Given the description of an element on the screen output the (x, y) to click on. 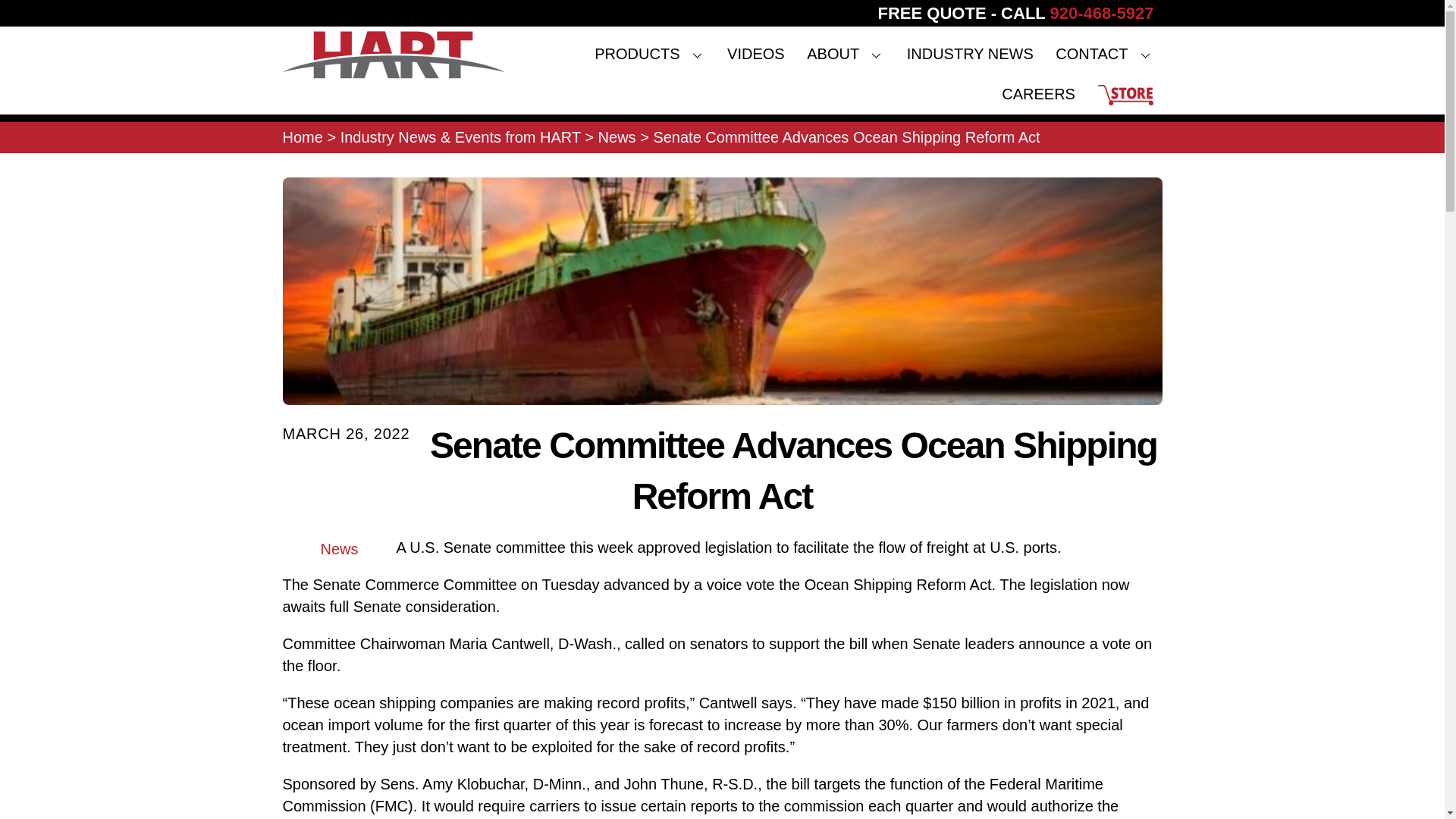
920-468-5927 (1101, 13)
Go to the News category archives. (617, 136)
PRODUCTS (649, 54)
HART Online Store (721, 70)
